Given the description of an element on the screen output the (x, y) to click on. 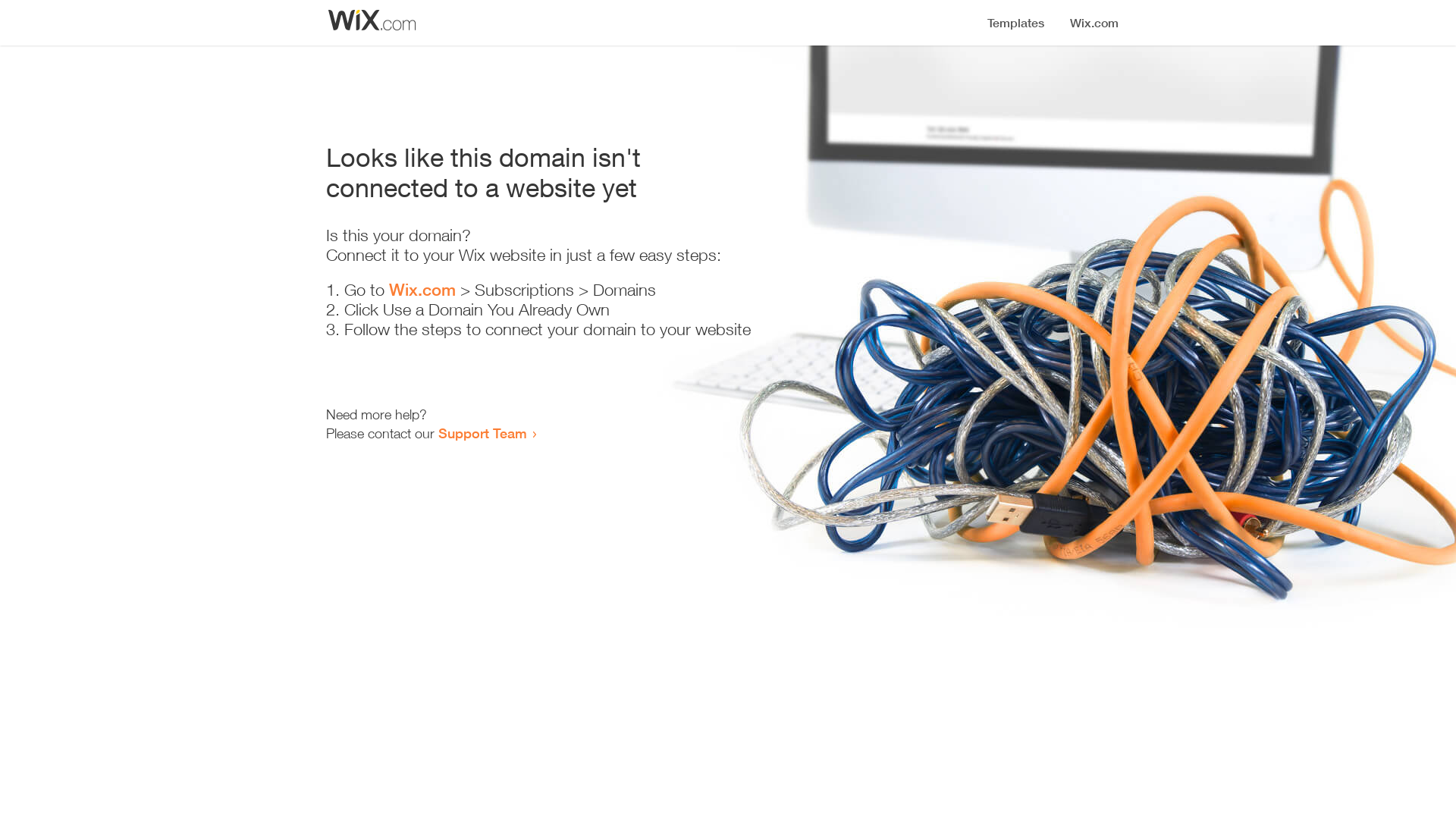
Support Team Element type: text (482, 432)
Wix.com Element type: text (422, 289)
